Given the description of an element on the screen output the (x, y) to click on. 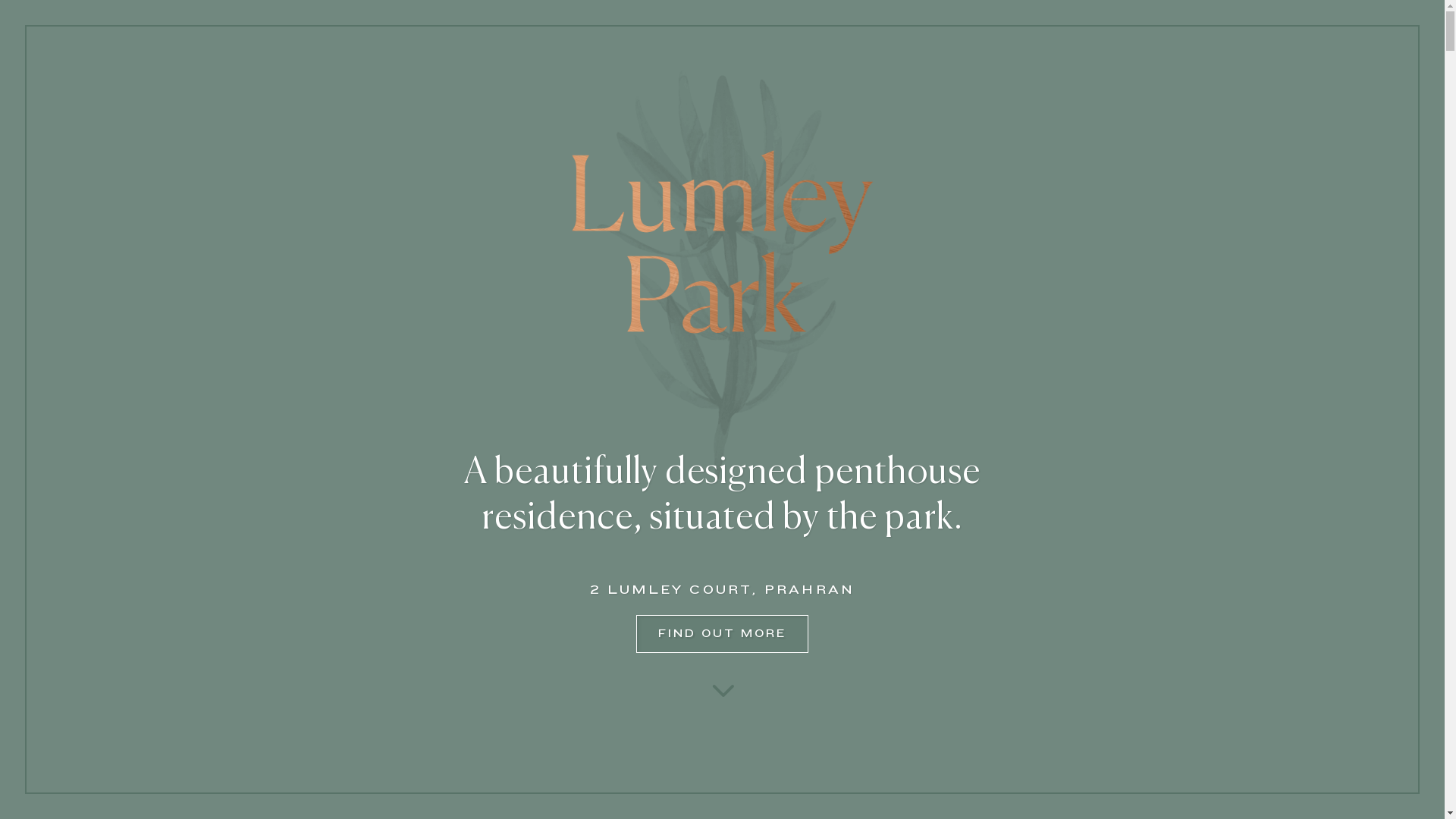
2 LUMLEY COURT, PRAHRAN Element type: text (722, 589)
FIND OUT MORE Element type: text (721, 633)
3 Element type: text (721, 688)
